Given the description of an element on the screen output the (x, y) to click on. 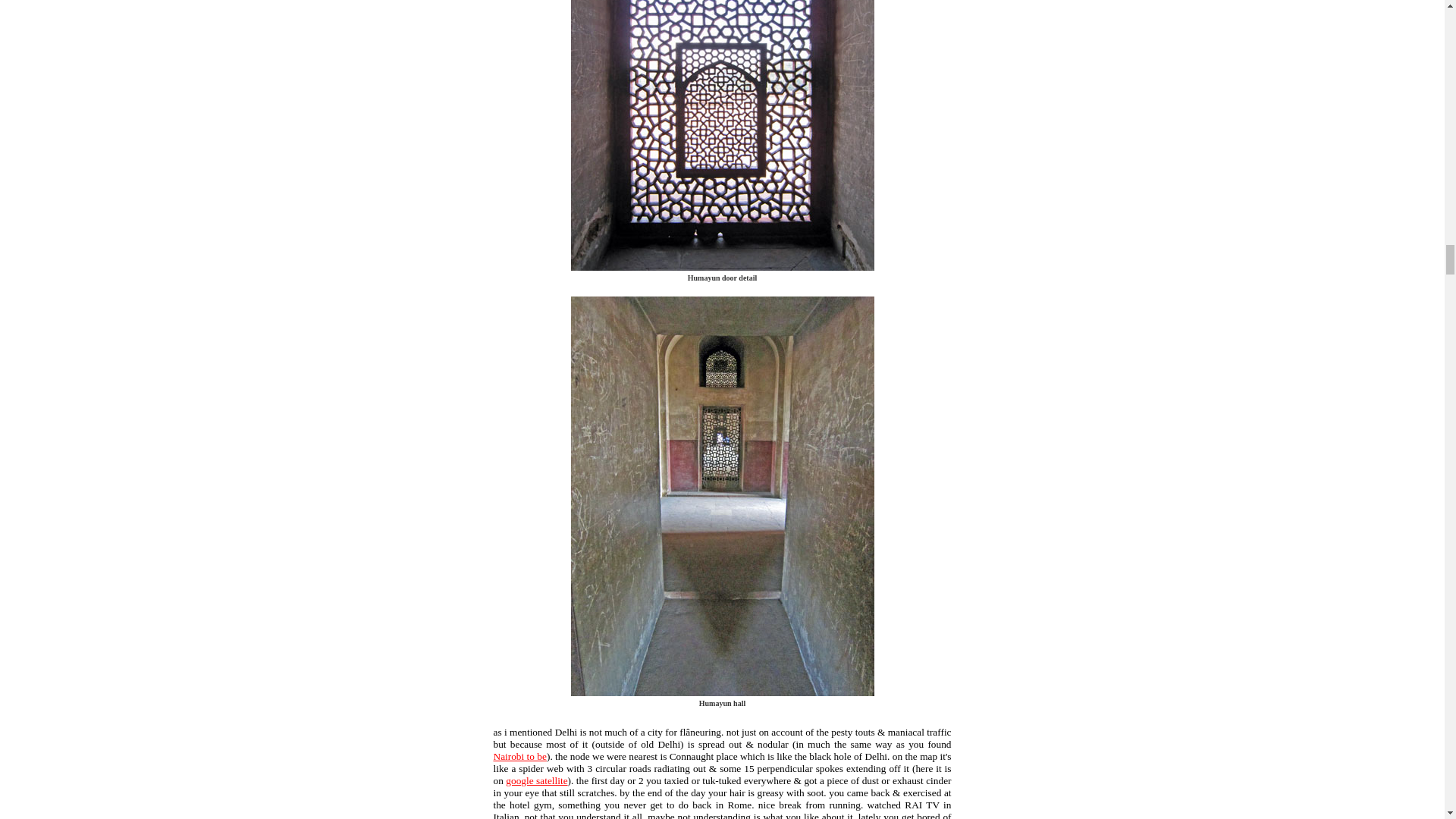
Nairobi to be (519, 756)
google satellite (536, 780)
